Given the description of an element on the screen output the (x, y) to click on. 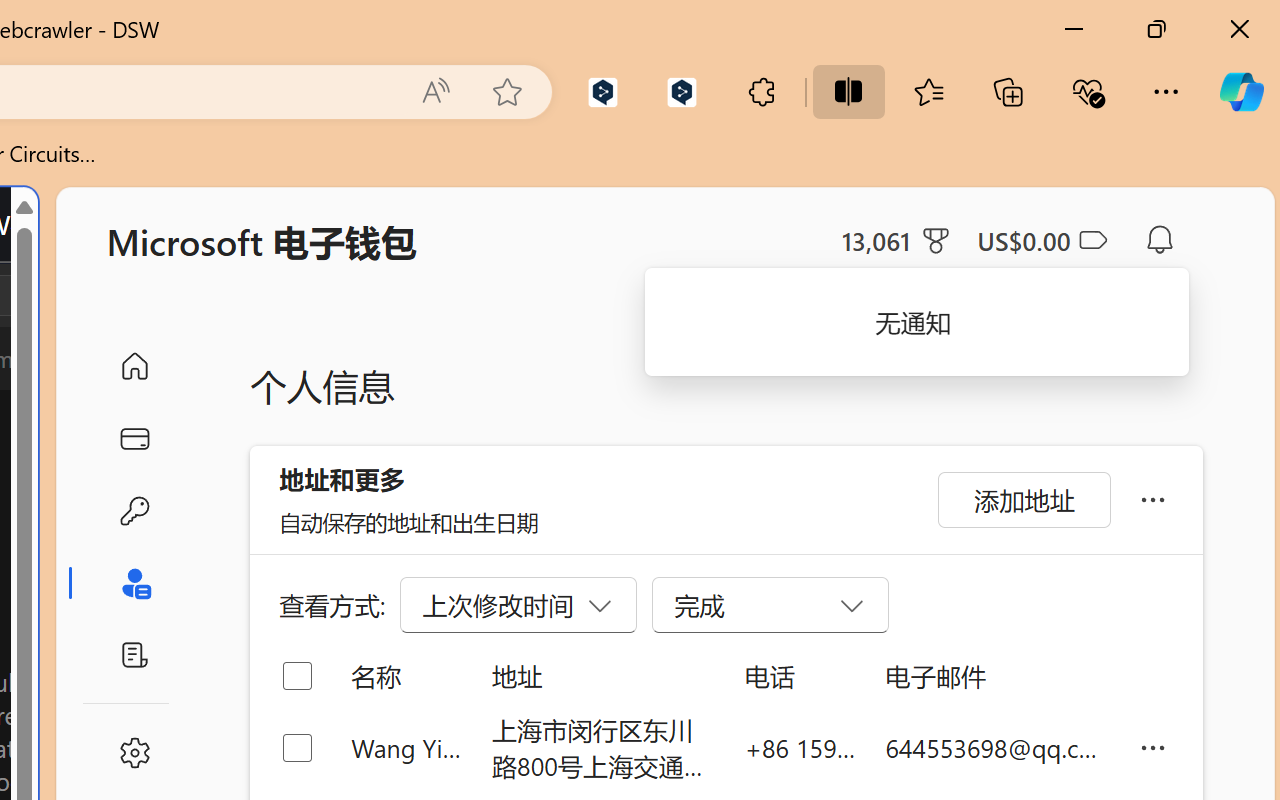
Microsoft Cashback - US$0.00 (1041, 240)
Copilot (Ctrl+Shift+.) (1241, 91)
+86 159 0032 4640 (799, 747)
